Given the description of an element on the screen output the (x, y) to click on. 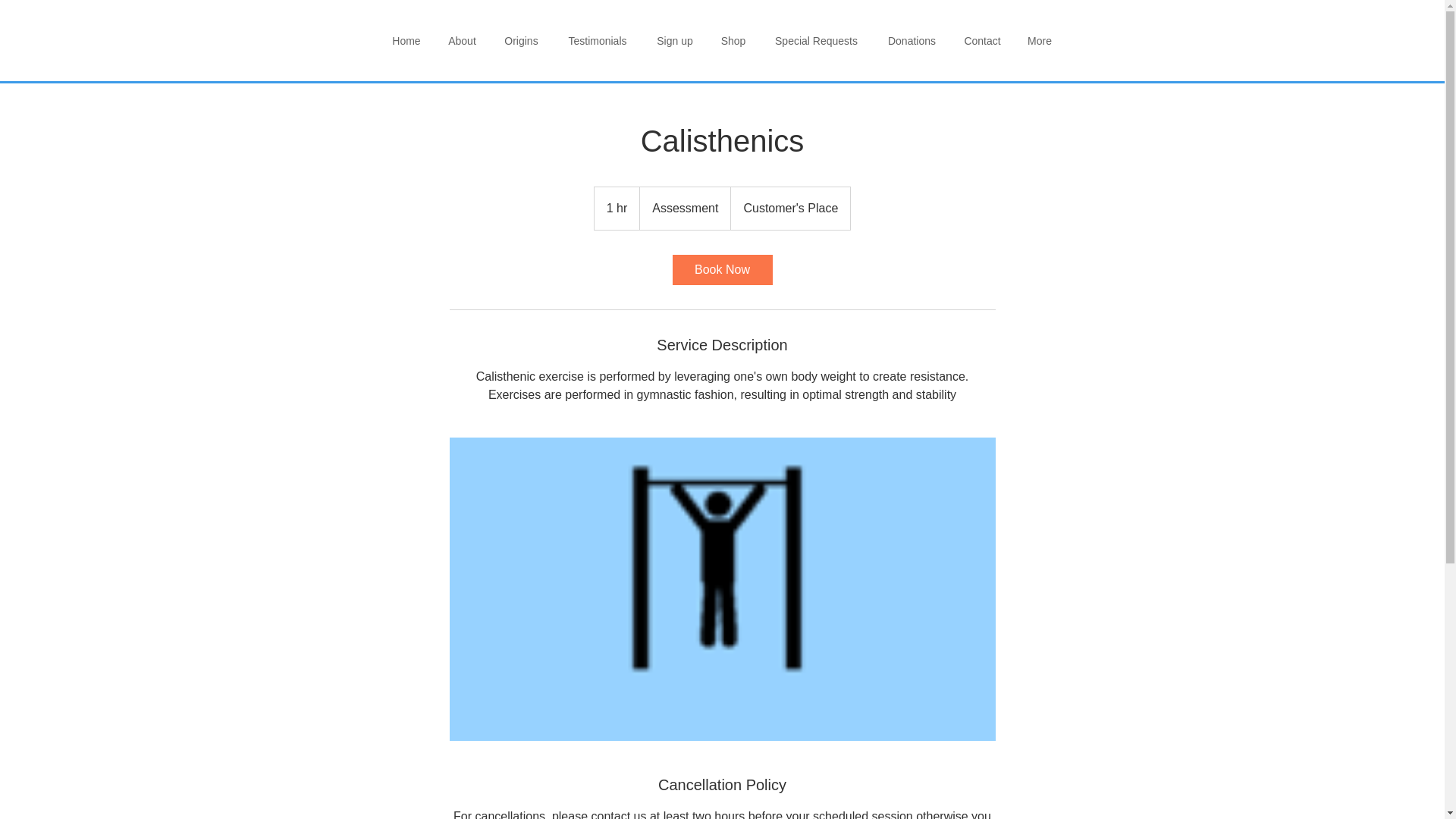
Book Now (721, 269)
Sign up (675, 41)
Shop (732, 41)
Special Requests (816, 41)
Donations (911, 41)
Testimonials (596, 41)
Origins (520, 41)
Contact (982, 41)
About (461, 41)
Home (405, 41)
